Given the description of an element on the screen output the (x, y) to click on. 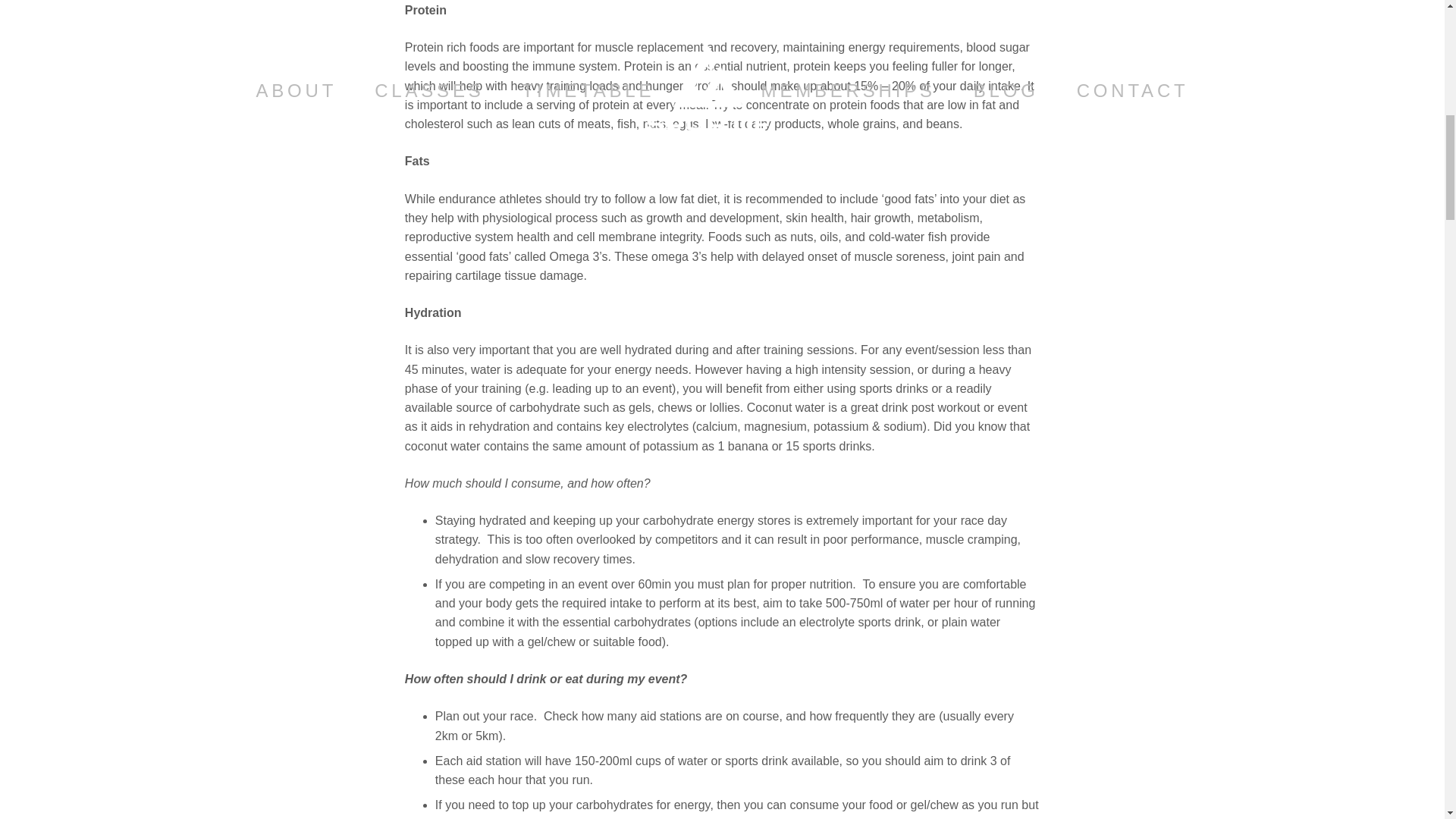
Back to top (1413, 26)
